Given the description of an element on the screen output the (x, y) to click on. 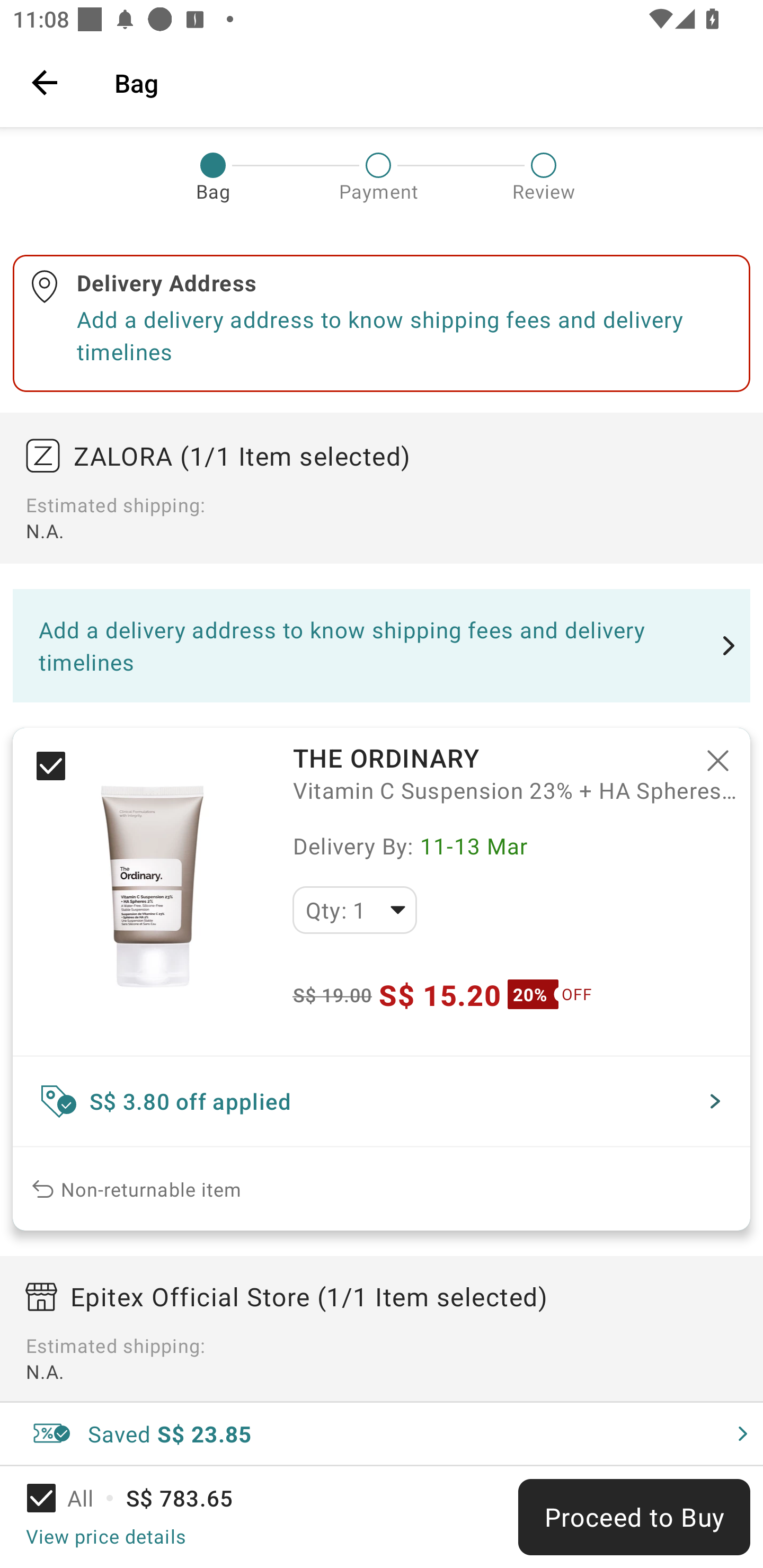
Navigate up (44, 82)
Bag (426, 82)
Qty: 1 (354, 909)
S$ 3.80 off applied (381, 1101)
Saved S$ 23.85 (381, 1433)
All (72, 1497)
Proceed to Buy (634, 1516)
View price details (105, 1535)
